Given the description of an element on the screen output the (x, y) to click on. 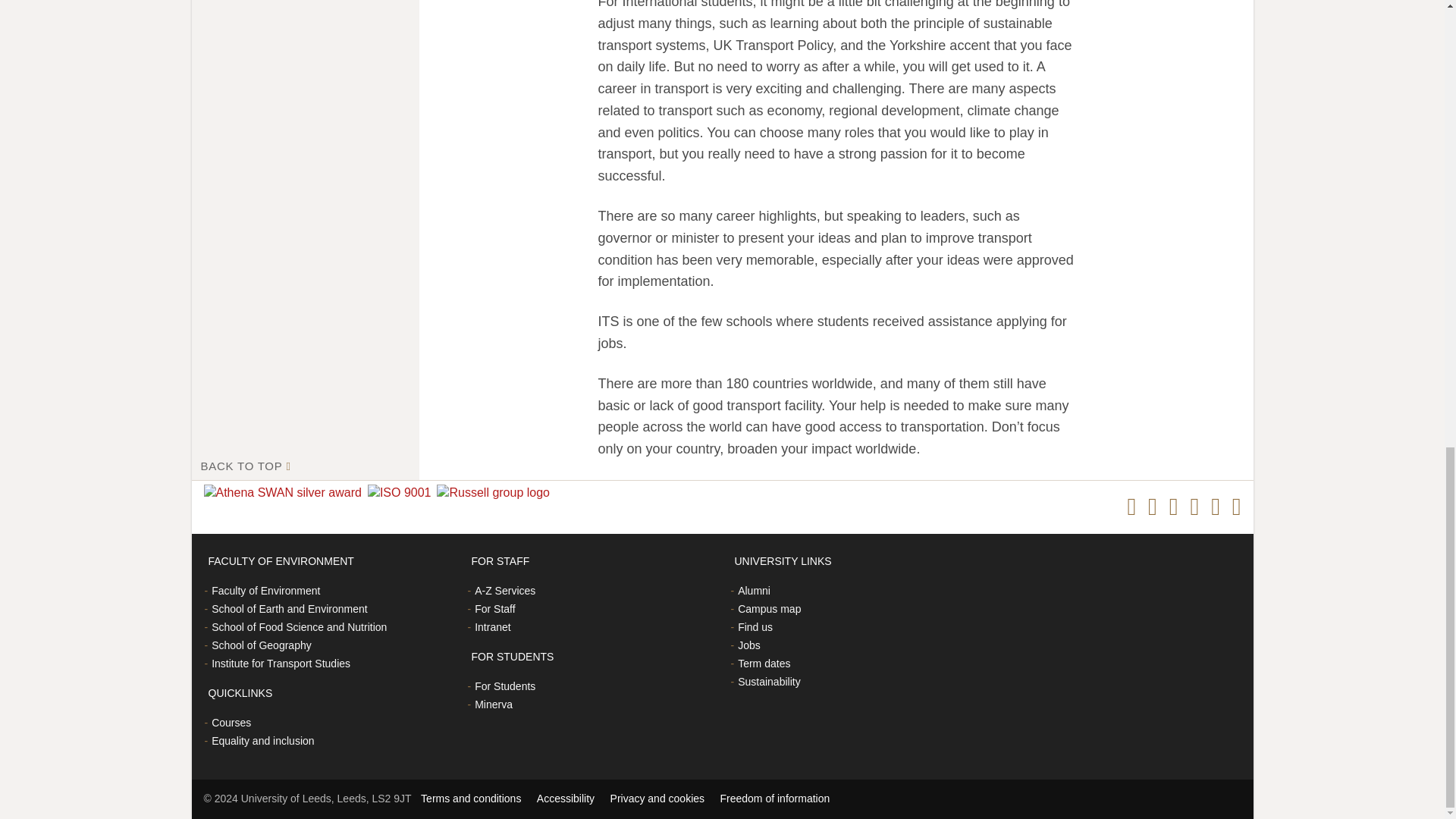
Visit Russell Group (496, 493)
Visit ISO 9001 (403, 493)
Visit Athena SWAN Silver award (284, 493)
